Given the description of an element on the screen output the (x, y) to click on. 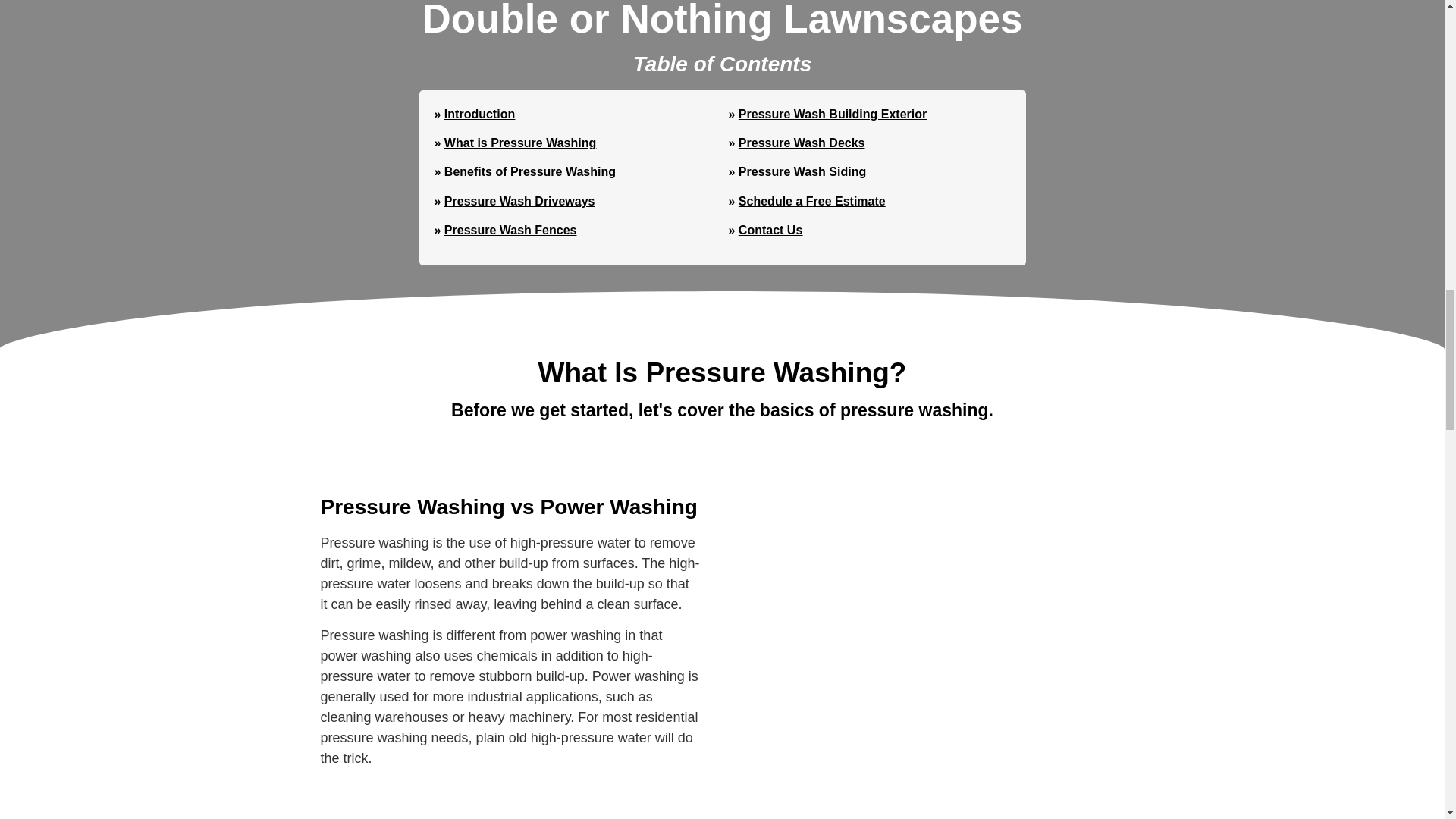
Pressure Wash Fences (510, 229)
Pressure Wash Building Exterior (832, 113)
Pressure Wash Decks (801, 142)
Benefits of Pressure Washing (529, 171)
Introduction (479, 113)
What is Pressure Washing (519, 142)
Pressure Wash Driveways (519, 201)
